Given the description of an element on the screen output the (x, y) to click on. 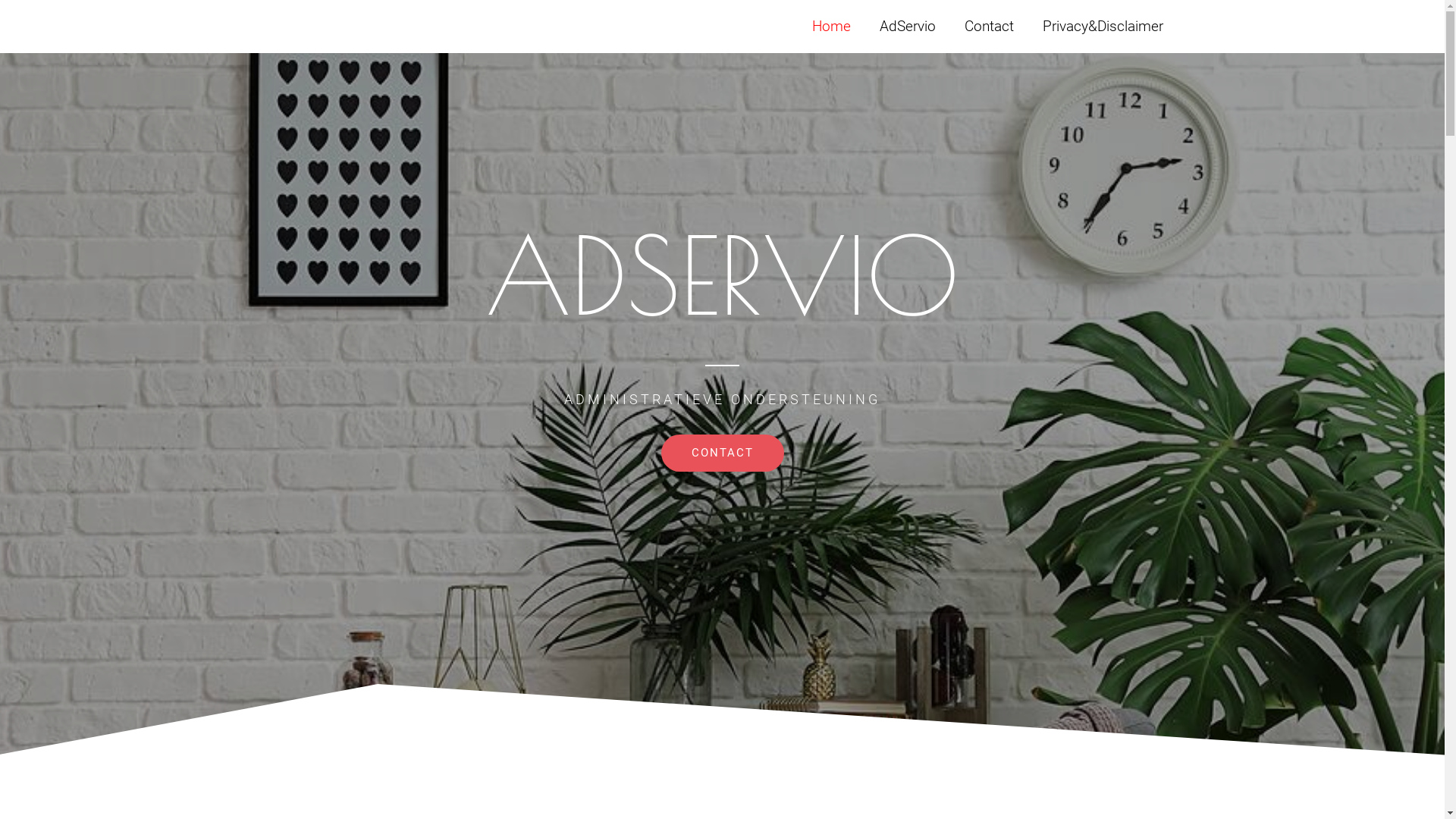
Privacy&Disclaimer Element type: text (1102, 26)
CONTACT Element type: text (722, 453)
Contact Element type: text (988, 26)
AdServio Element type: text (906, 26)
Home Element type: text (831, 26)
